Given the description of an element on the screen output the (x, y) to click on. 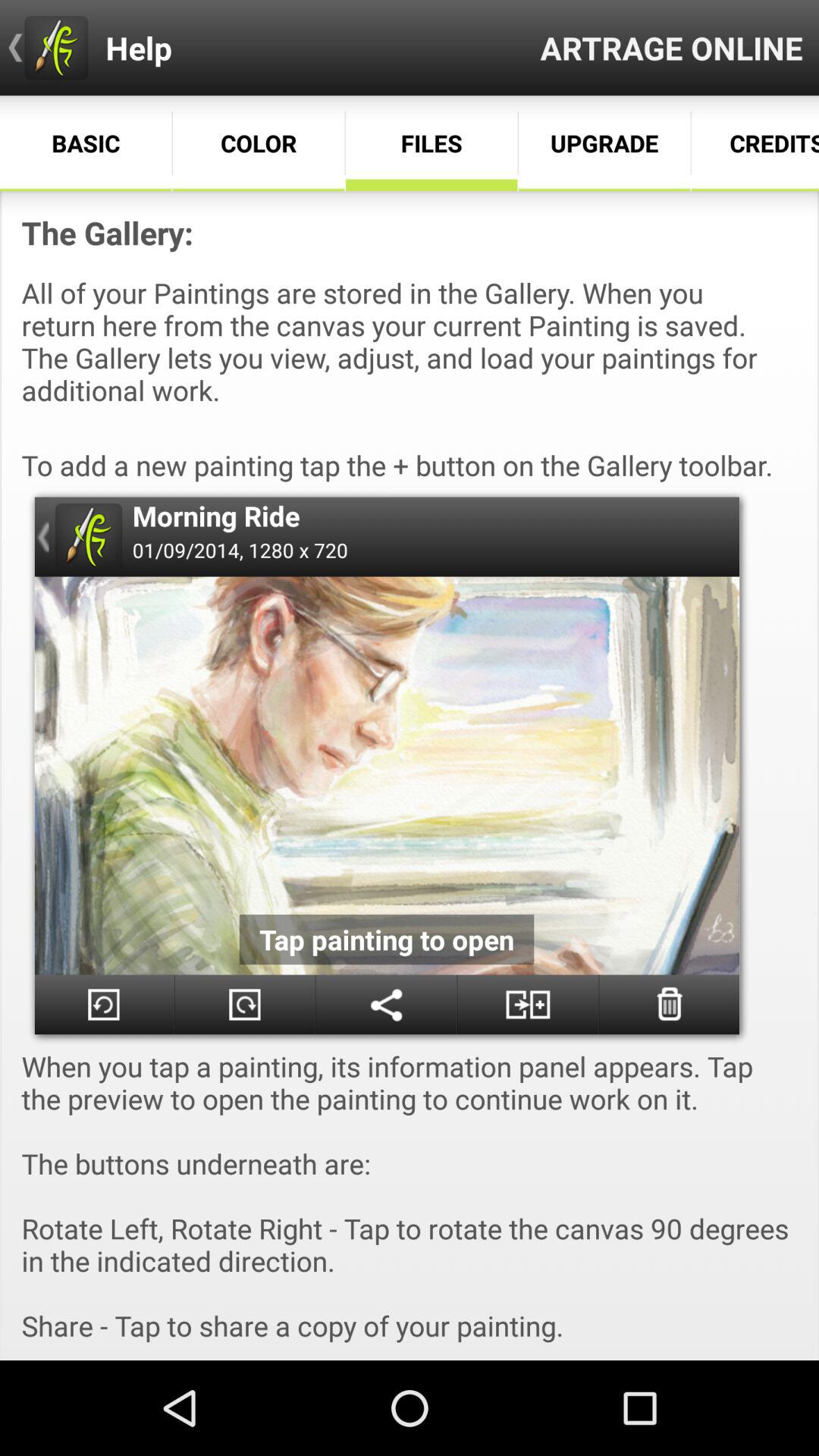
click the artrage online (671, 47)
